Given the description of an element on the screen output the (x, y) to click on. 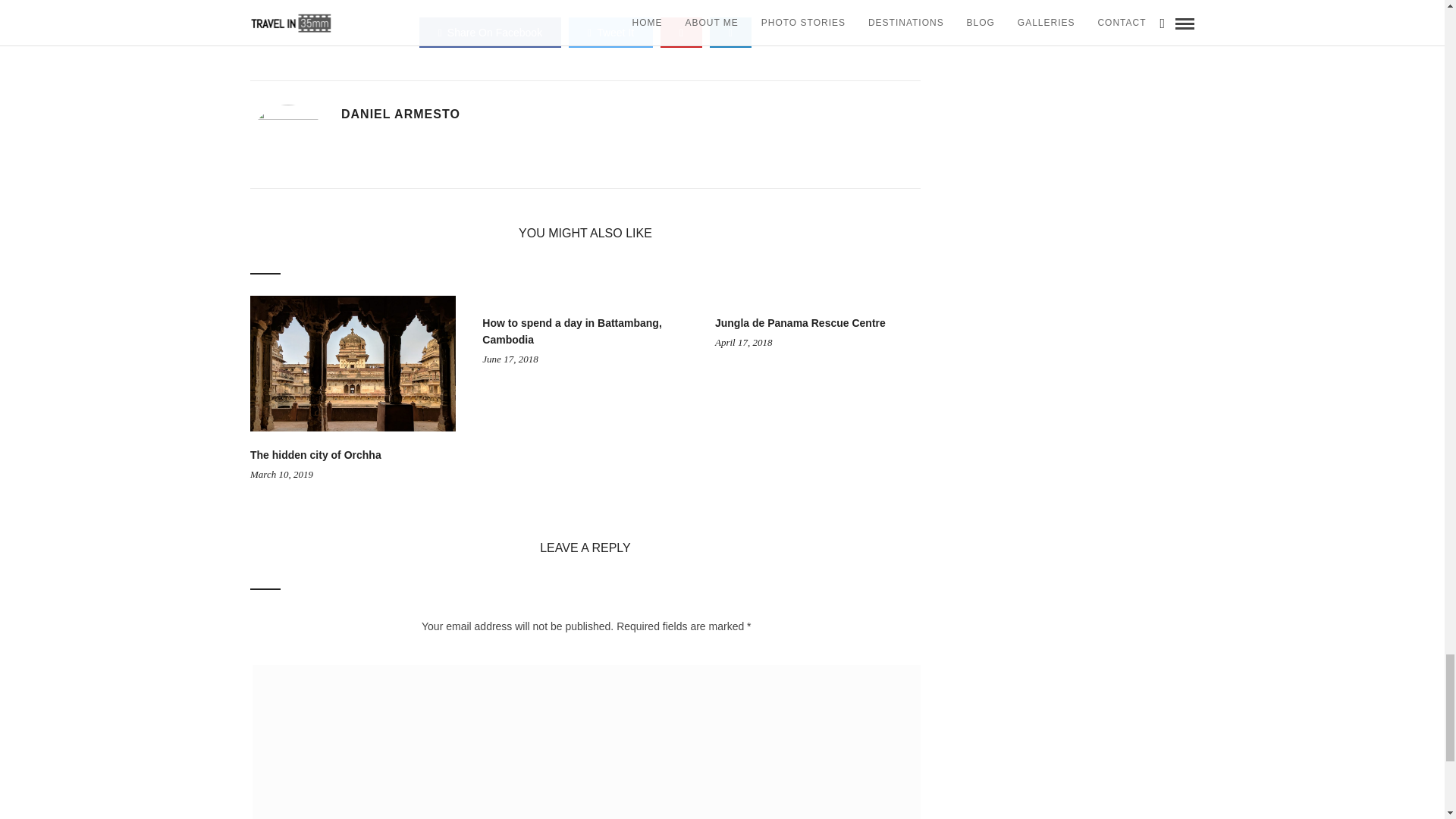
Share On Pinterest (681, 32)
Share On Facebook (489, 32)
TRAVEL (708, 0)
The hidden city of Orchha (315, 454)
Tweet It (610, 32)
Share On Twitter (610, 32)
PANAMA (648, 0)
CANAL (469, 0)
Share by Email (730, 32)
How to spend a day in Battambang, Cambodia (571, 330)
Jungla de Panama Rescue Centre (799, 322)
Share On Facebook (489, 32)
